Given the description of an element on the screen output the (x, y) to click on. 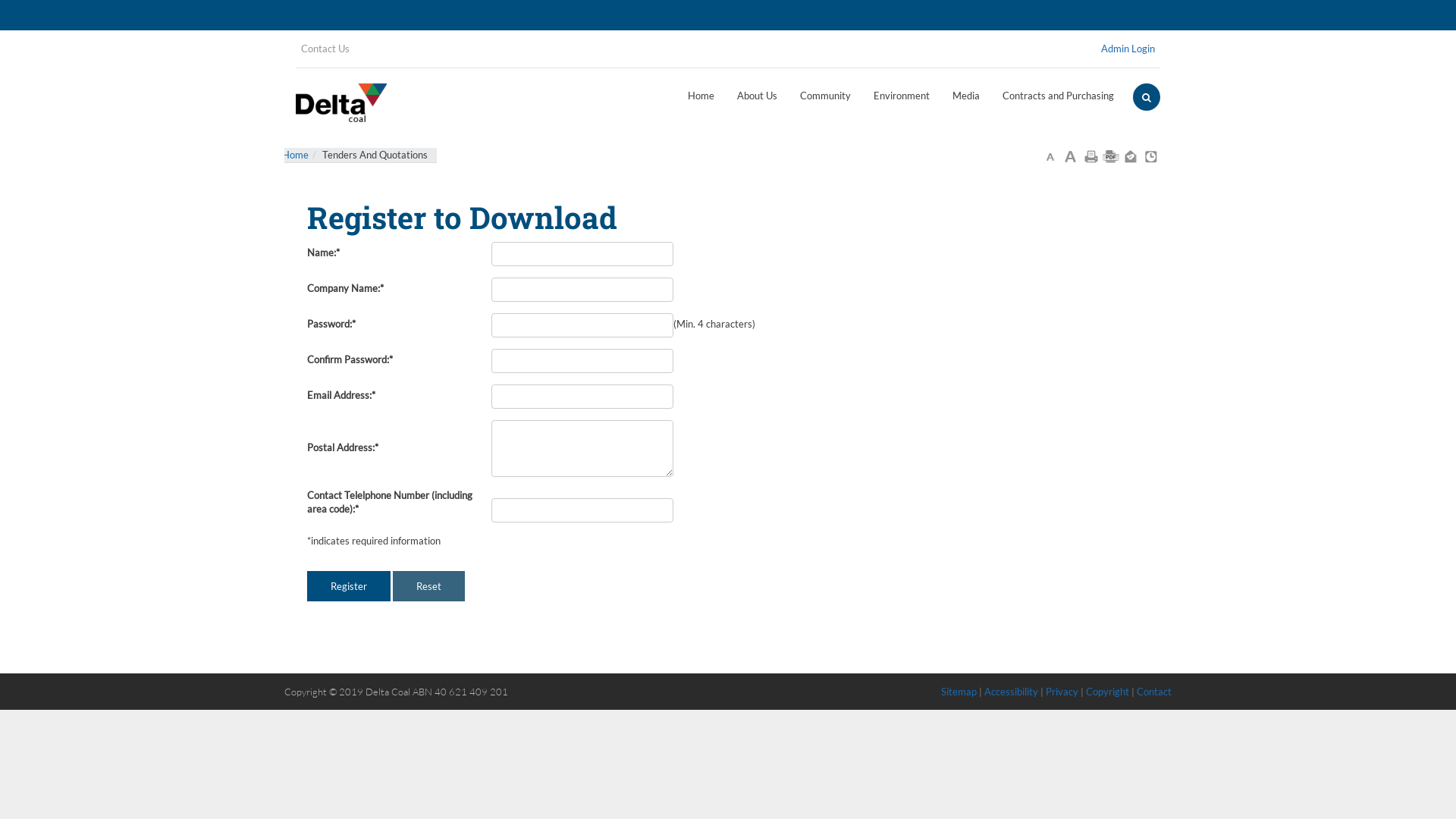
Reset Element type: hover (428, 586)
reminder-icon.gif Element type: hover (1151, 155)
print-icon.gif Element type: hover (1091, 155)
Community Element type: text (825, 94)
Contact Us Element type: text (325, 48)
Reset Element type: text (428, 586)
Register Element type: text (348, 586)
Privacy Element type: text (1061, 691)
Register Element type: hover (348, 586)
Environment Element type: text (901, 94)
Home Element type: text (295, 154)
Admin Login Element type: text (1127, 48)
Contracts and Purchasing Element type: text (1057, 94)
Media Element type: text (965, 94)
Contact Element type: text (1153, 691)
Home Element type: text (700, 94)
mail-icon.gif Element type: hover (1130, 155)
About Us Element type: text (757, 94)
pdf-icon.gif Element type: hover (1110, 155)
Accessibility Element type: text (1011, 691)
Sitemap Element type: text (958, 691)
Copyright Element type: text (1108, 691)
